Given the description of an element on the screen output the (x, y) to click on. 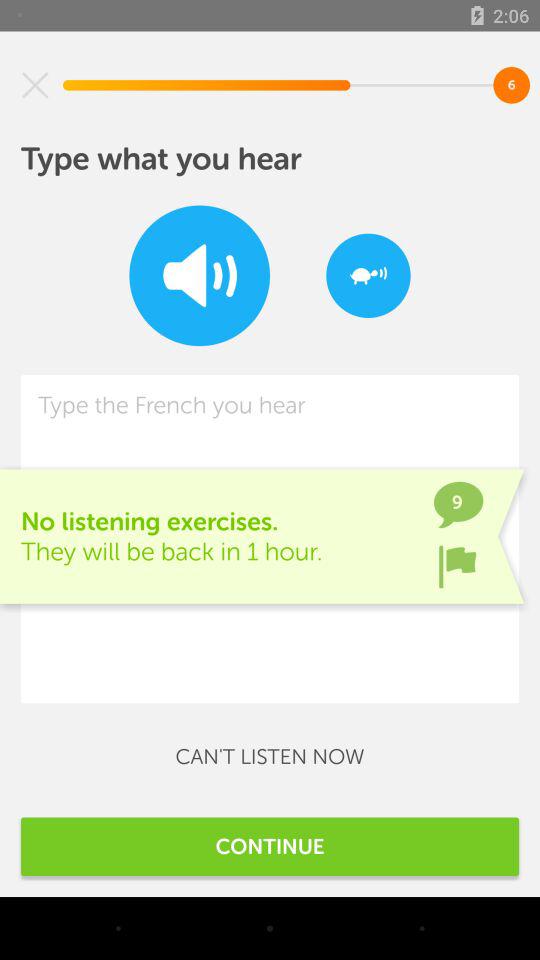
select the icon at the top right corner (368, 275)
